Given the description of an element on the screen output the (x, y) to click on. 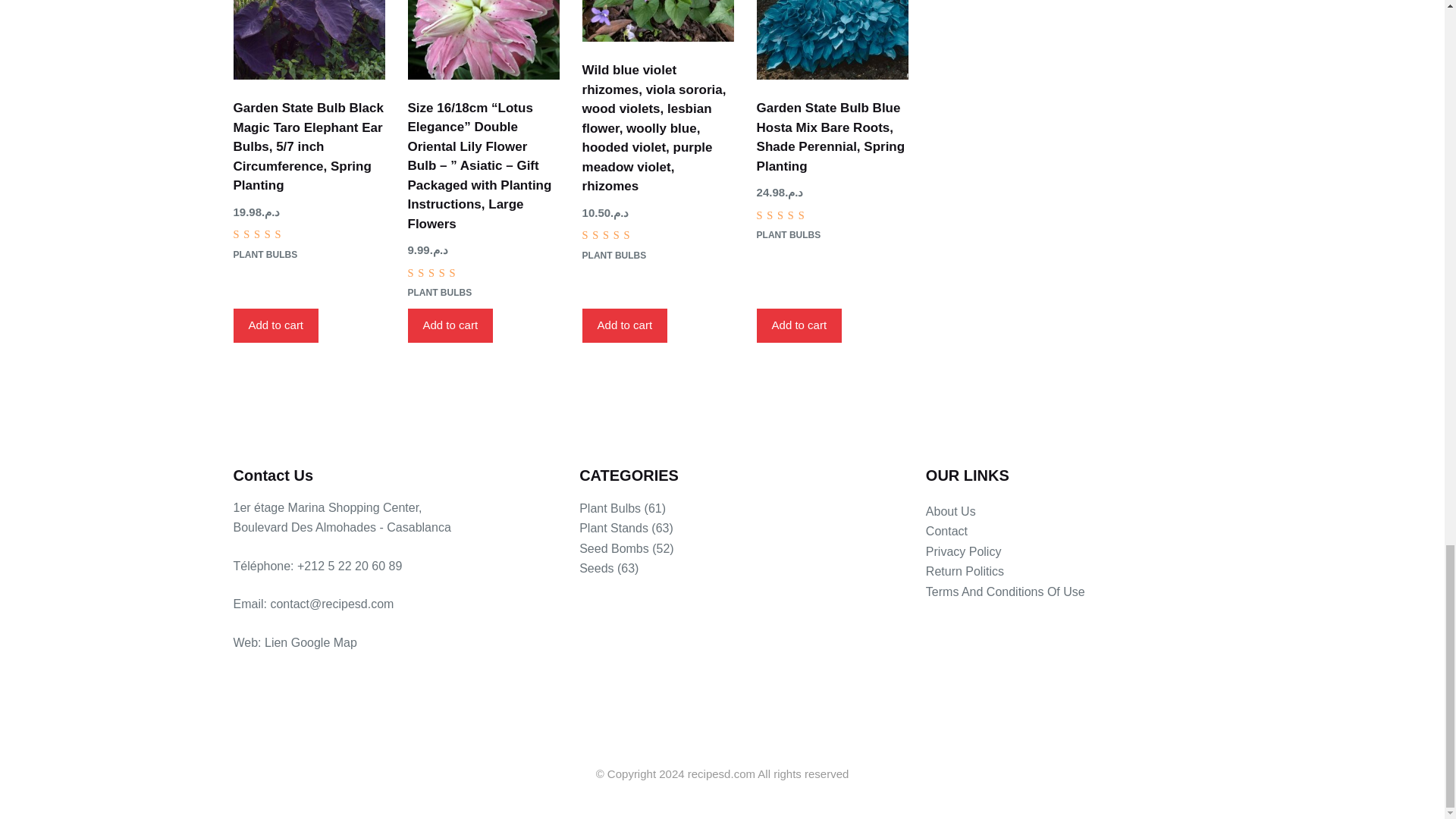
Add to cart (450, 325)
Add to cart (275, 325)
PLANT BULBS (265, 254)
PLANT BULBS (439, 292)
